Given the description of an element on the screen output the (x, y) to click on. 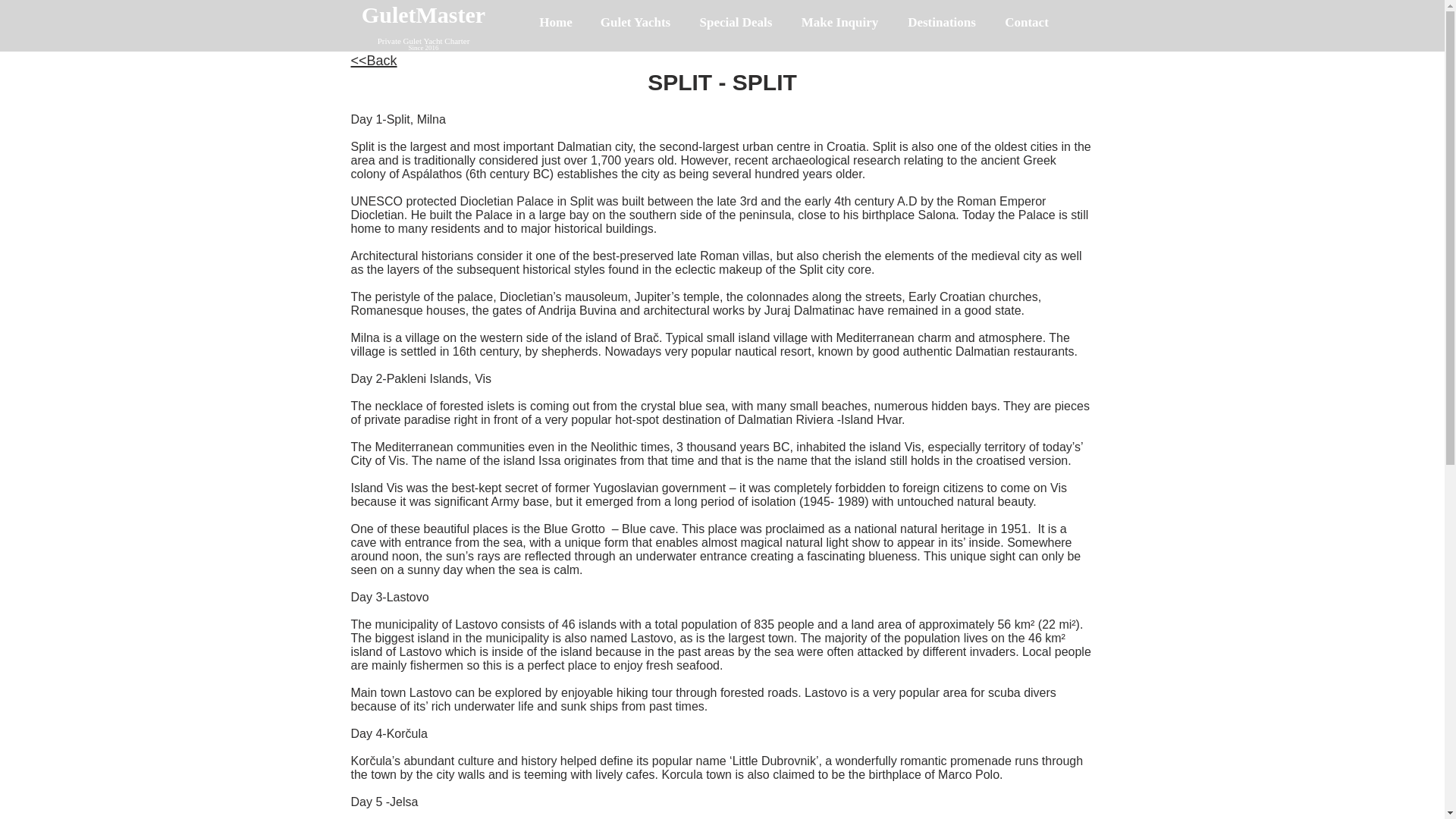
Destinations (941, 22)
Make Inquiry (838, 22)
Since 2016 (422, 47)
Private Gulet Yacht Charter (423, 40)
Home (555, 22)
GuletMaster (422, 14)
Contact (1026, 22)
Gulet Yachts (635, 22)
Special Deals (734, 22)
